Given the description of an element on the screen output the (x, y) to click on. 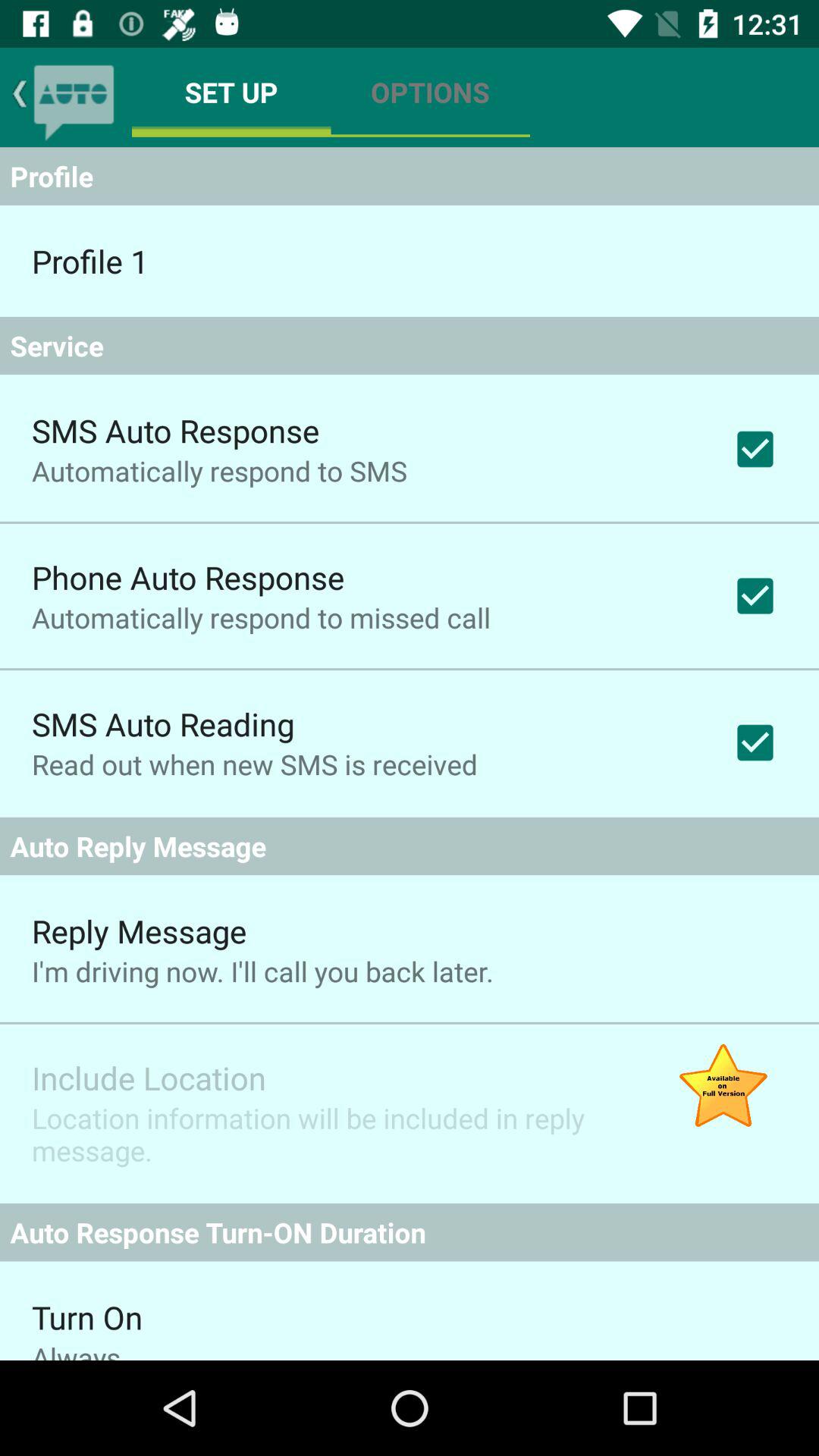
launch app above the location information will item (148, 1077)
